Given the description of an element on the screen output the (x, y) to click on. 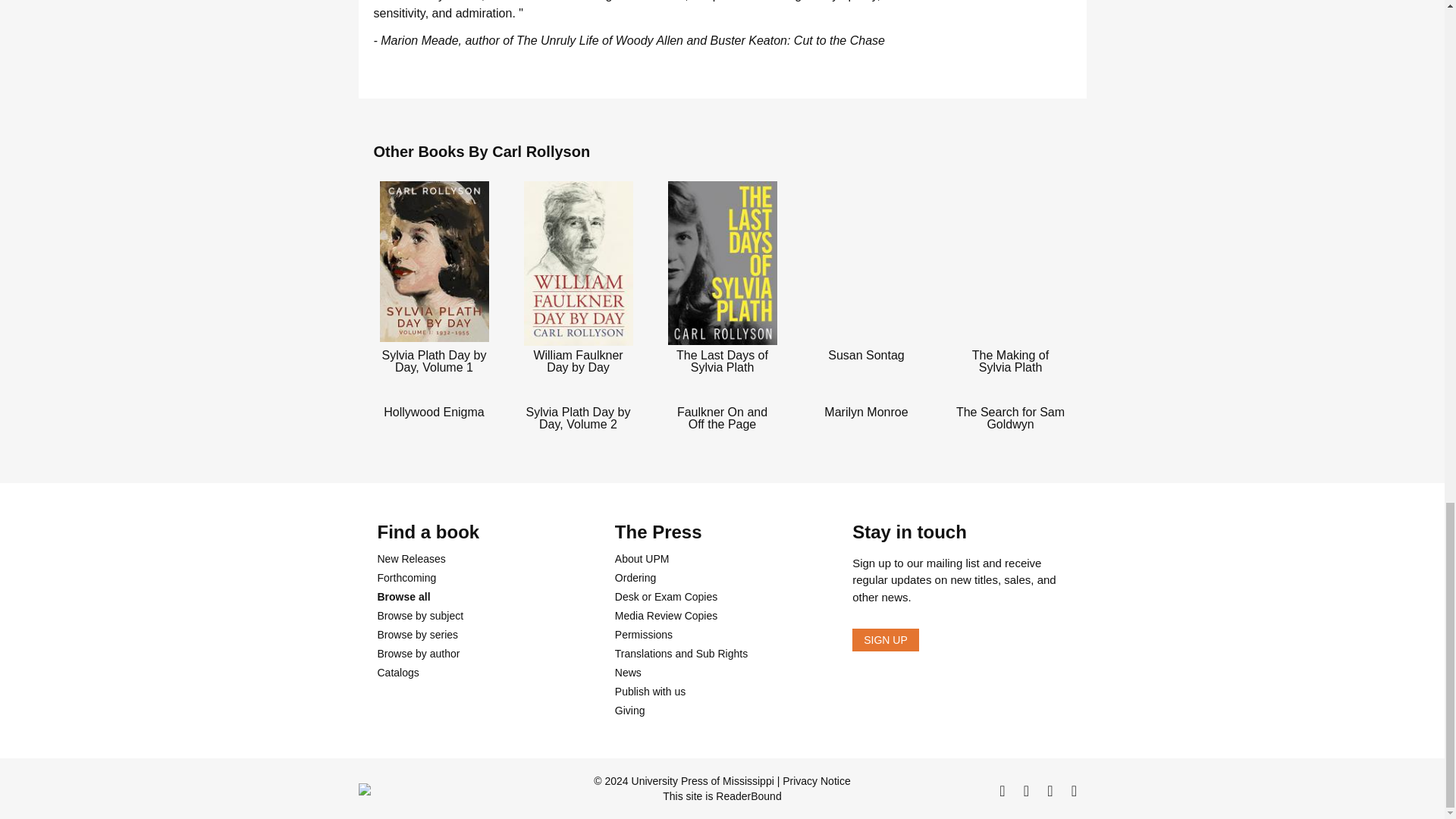
View The Search for Sam Goldwyn (1009, 416)
View Marilyn Monroe (865, 410)
View Sylvia Plath Day by Day, Volume 2 (577, 416)
View Hollywood Enigma (433, 410)
View Faulkner On and Off the Page (722, 416)
